Given the description of an element on the screen output the (x, y) to click on. 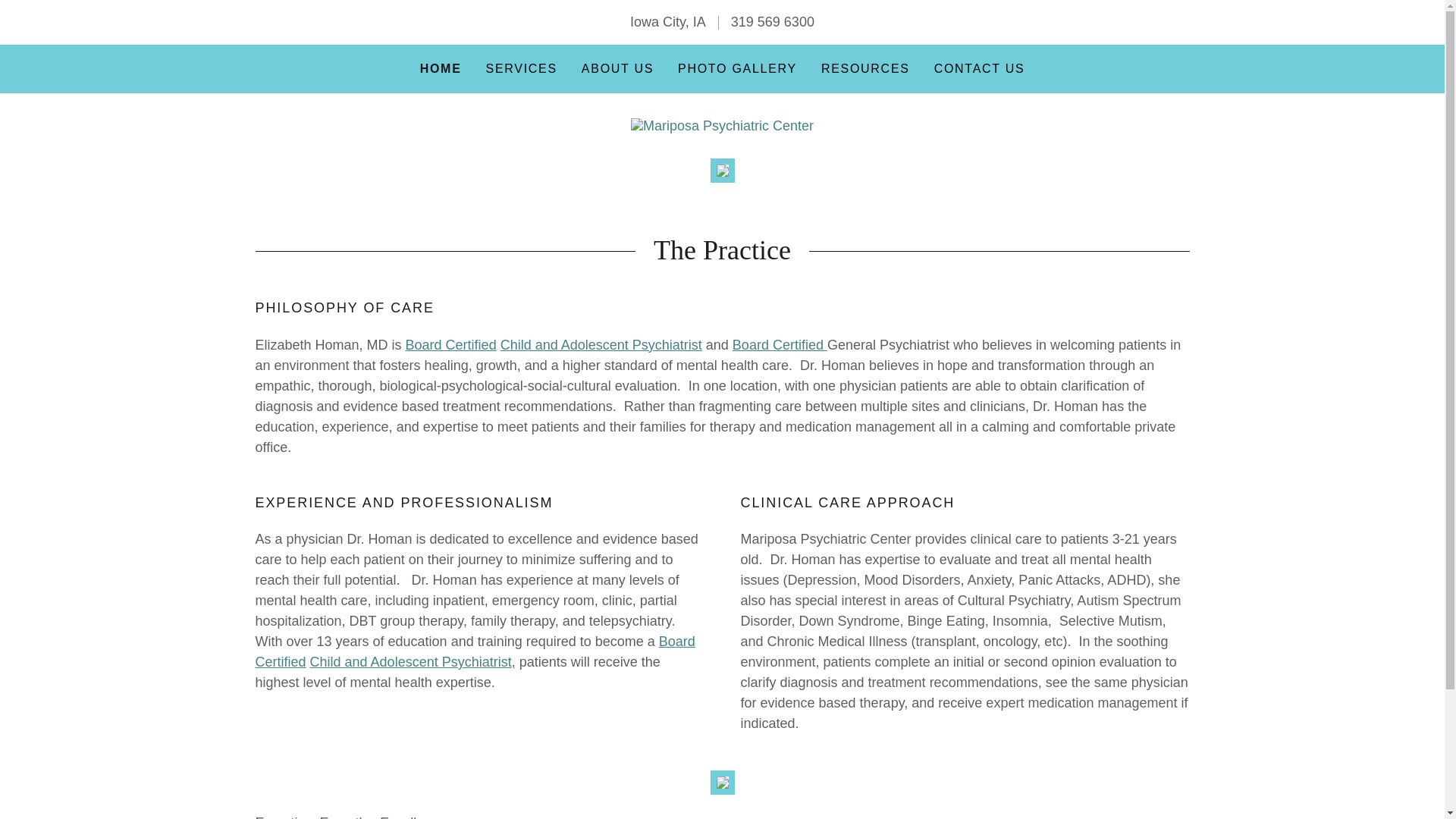
RESOURCES (865, 68)
319 569 6300 (771, 21)
Child and Adolescent Psychiatrist (600, 344)
Mariposa Psychiatric Center (721, 124)
Board Certified (779, 344)
HOME (440, 68)
Board Certified (451, 344)
PHOTO GALLERY (737, 68)
ABOUT US (617, 68)
Board Certified (474, 651)
